Given the description of an element on the screen output the (x, y) to click on. 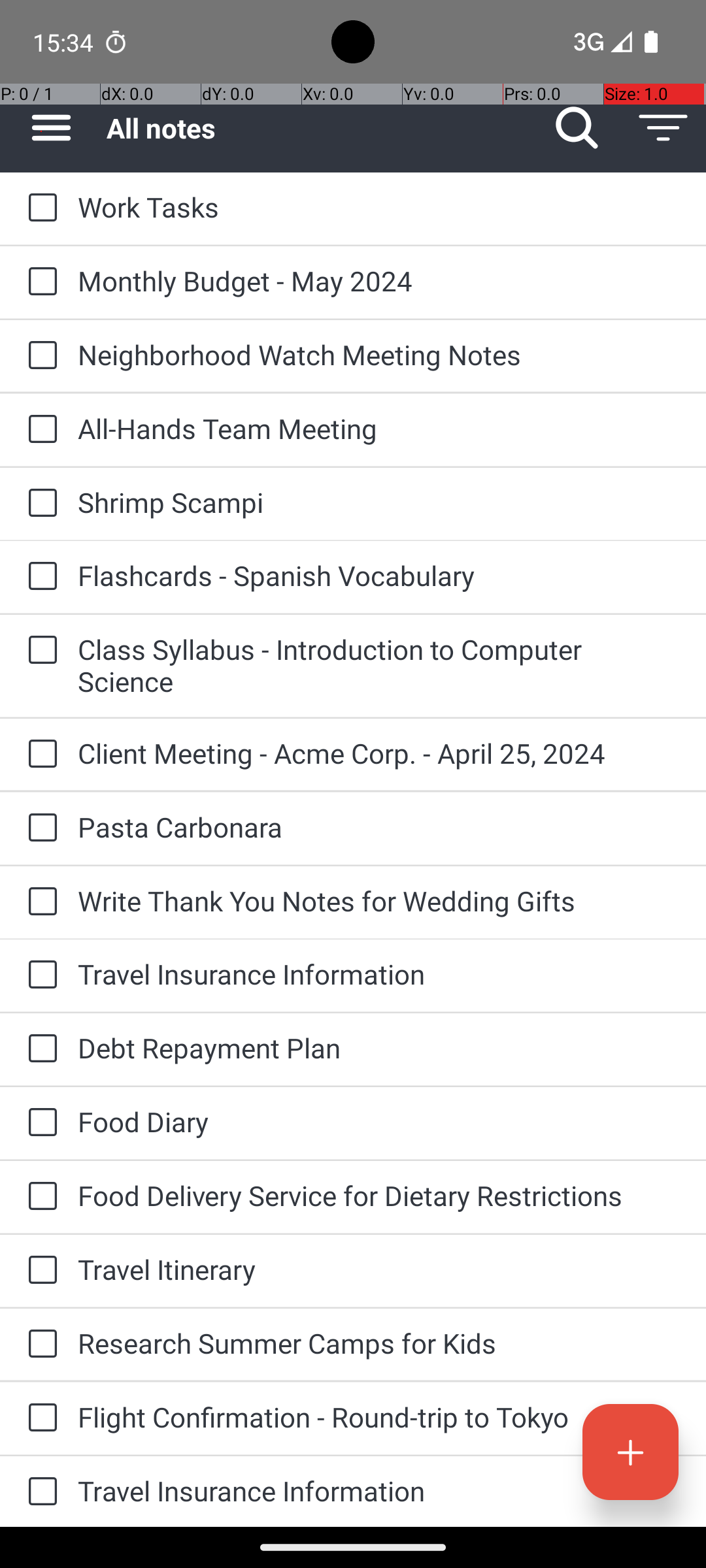
to-do: Work Tasks Element type: android.widget.CheckBox (38, 208)
Work Tasks Element type: android.widget.TextView (378, 206)
to-do: Monthly Budget - May 2024 Element type: android.widget.CheckBox (38, 282)
Monthly Budget - May 2024 Element type: android.widget.TextView (378, 280)
to-do: Neighborhood Watch Meeting Notes Element type: android.widget.CheckBox (38, 356)
Neighborhood Watch Meeting Notes Element type: android.widget.TextView (378, 354)
to-do: Shrimp Scampi Element type: android.widget.CheckBox (38, 503)
Shrimp Scampi Element type: android.widget.TextView (378, 501)
to-do: Flashcards - Spanish Vocabulary Element type: android.widget.CheckBox (38, 576)
Flashcards - Spanish Vocabulary Element type: android.widget.TextView (378, 574)
to-do: Class Syllabus - Introduction to Computer Science Element type: android.widget.CheckBox (38, 650)
Class Syllabus - Introduction to Computer Science Element type: android.widget.TextView (378, 664)
to-do: Pasta Carbonara Element type: android.widget.CheckBox (38, 828)
Pasta Carbonara Element type: android.widget.TextView (378, 826)
to-do: Write Thank You Notes for Wedding Gifts Element type: android.widget.CheckBox (38, 902)
Write Thank You Notes for Wedding Gifts Element type: android.widget.TextView (378, 900)
to-do: Travel Insurance Information Element type: android.widget.CheckBox (38, 975)
to-do: Debt Repayment Plan Element type: android.widget.CheckBox (38, 1049)
to-do: Food Diary Element type: android.widget.CheckBox (38, 1123)
Food Diary Element type: android.widget.TextView (378, 1121)
to-do: Travel Itinerary Element type: android.widget.CheckBox (38, 1270)
Travel Itinerary Element type: android.widget.TextView (378, 1268)
to-do: Research Summer Camps for Kids Element type: android.widget.CheckBox (38, 1344)
Research Summer Camps for Kids Element type: android.widget.TextView (378, 1342)
